Given the description of an element on the screen output the (x, y) to click on. 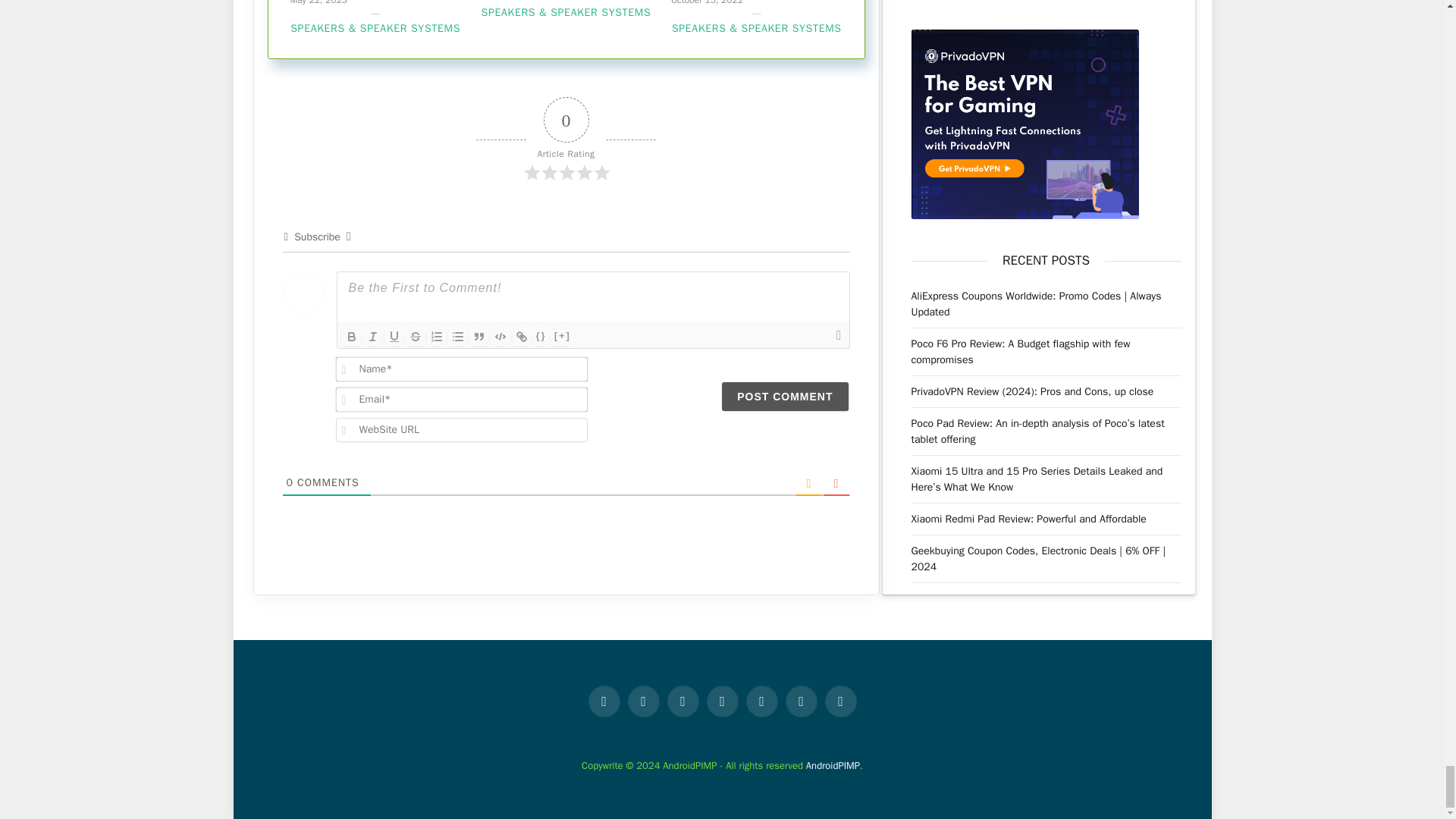
Post Comment (784, 396)
